Given the description of an element on the screen output the (x, y) to click on. 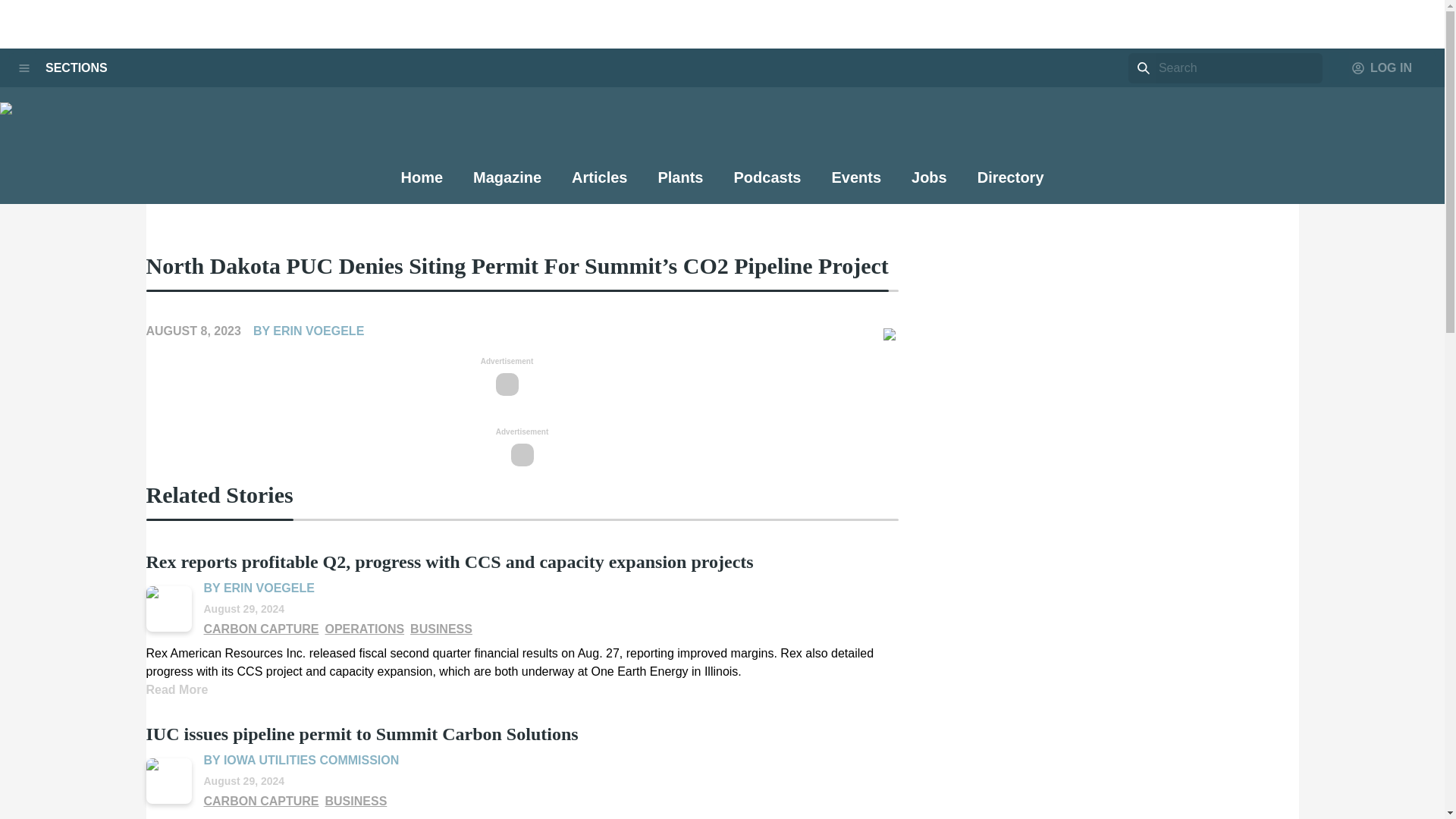
Magazine (507, 184)
Read More (176, 689)
Plants (680, 184)
Articles (599, 184)
Events (855, 184)
CARBON CAPTURE (260, 801)
BUSINESS (440, 628)
Podcasts (766, 184)
Home (421, 184)
